Given the description of an element on the screen output the (x, y) to click on. 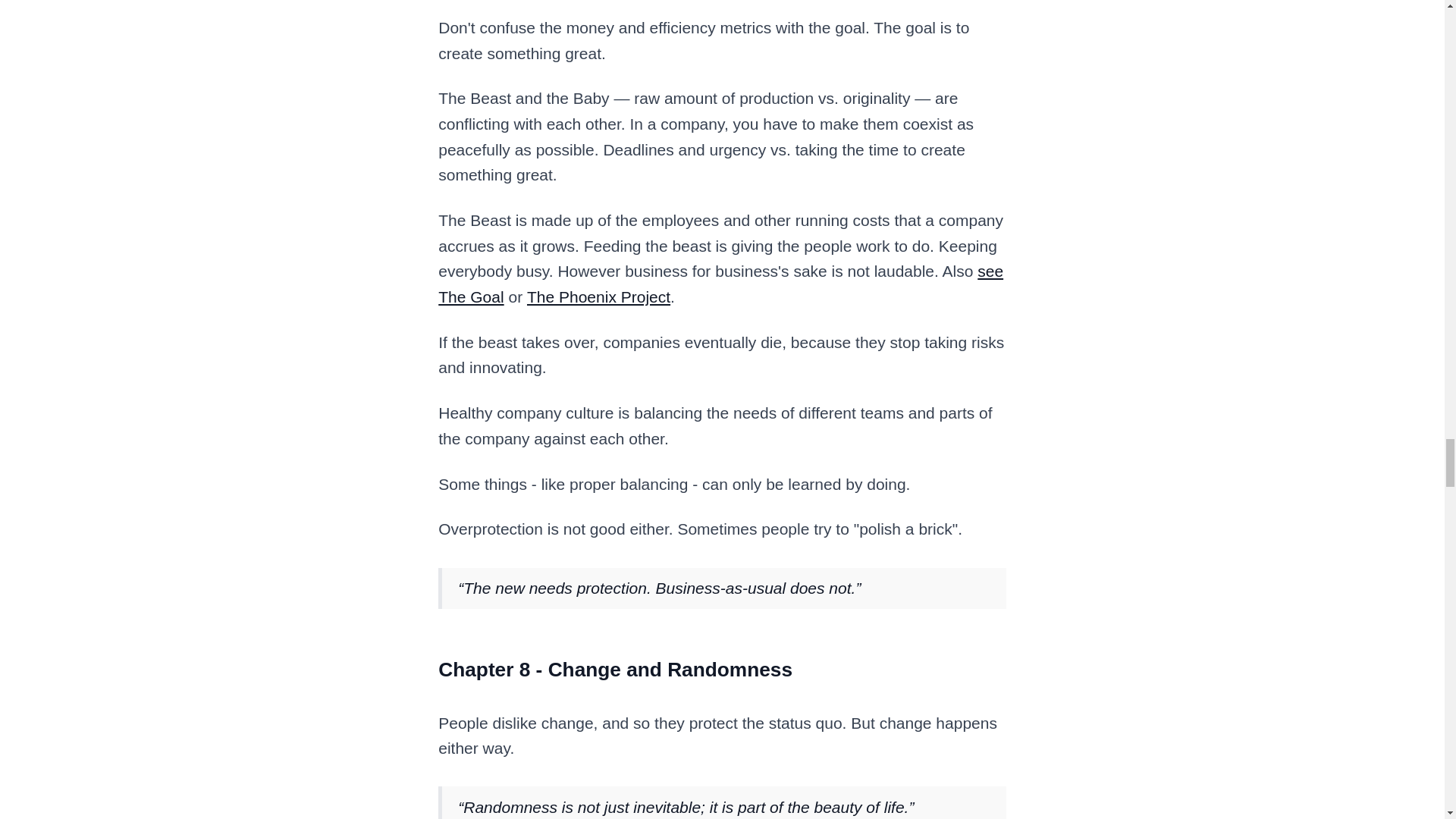
The Phoenix Project (598, 296)
see The Goal (720, 283)
